Given the description of an element on the screen output the (x, y) to click on. 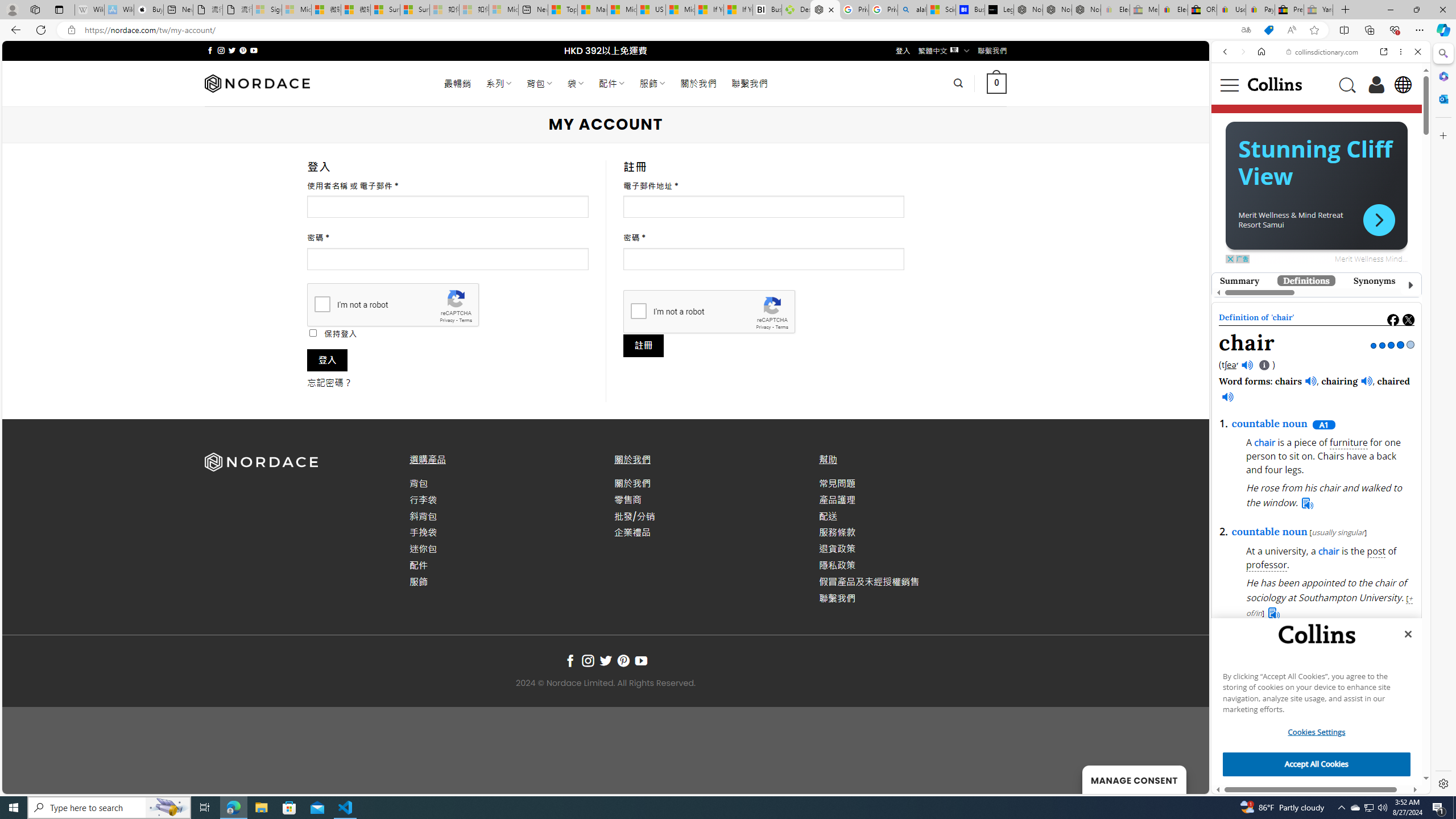
Cookies Settings (1316, 731)
seat (1277, 285)
Translate chair to Choose language (1335, 572)
Merit Wellness & Mind Retreat Resort Samui (1290, 219)
chairman (1337, 350)
Link for logging (1338, 572)
Share this page on Twitter (1407, 319)
Synonyms (1373, 280)
